Given the description of an element on the screen output the (x, y) to click on. 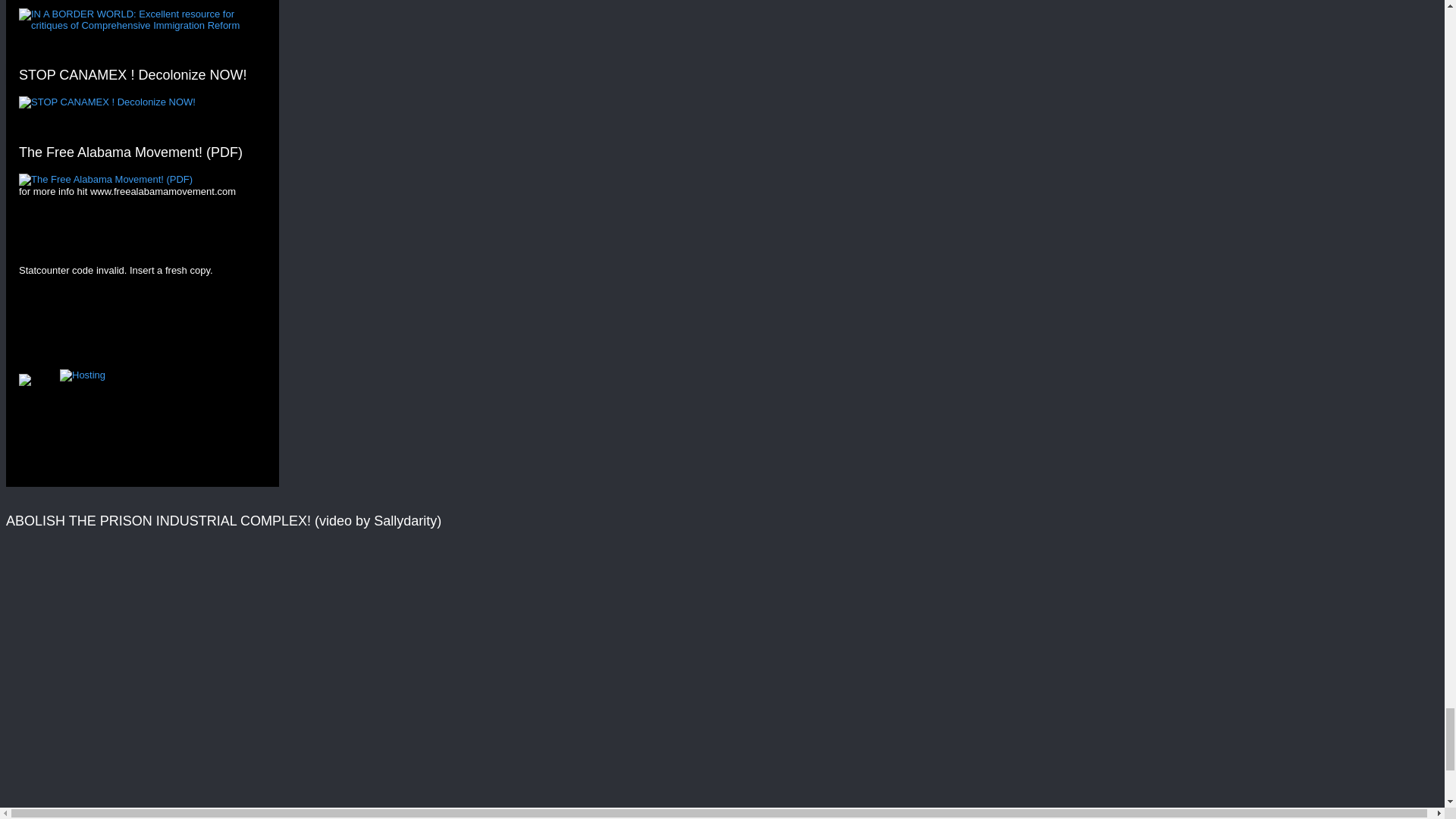
Free Blog Counters, Stats and Widgets (24, 382)
